Given the description of an element on the screen output the (x, y) to click on. 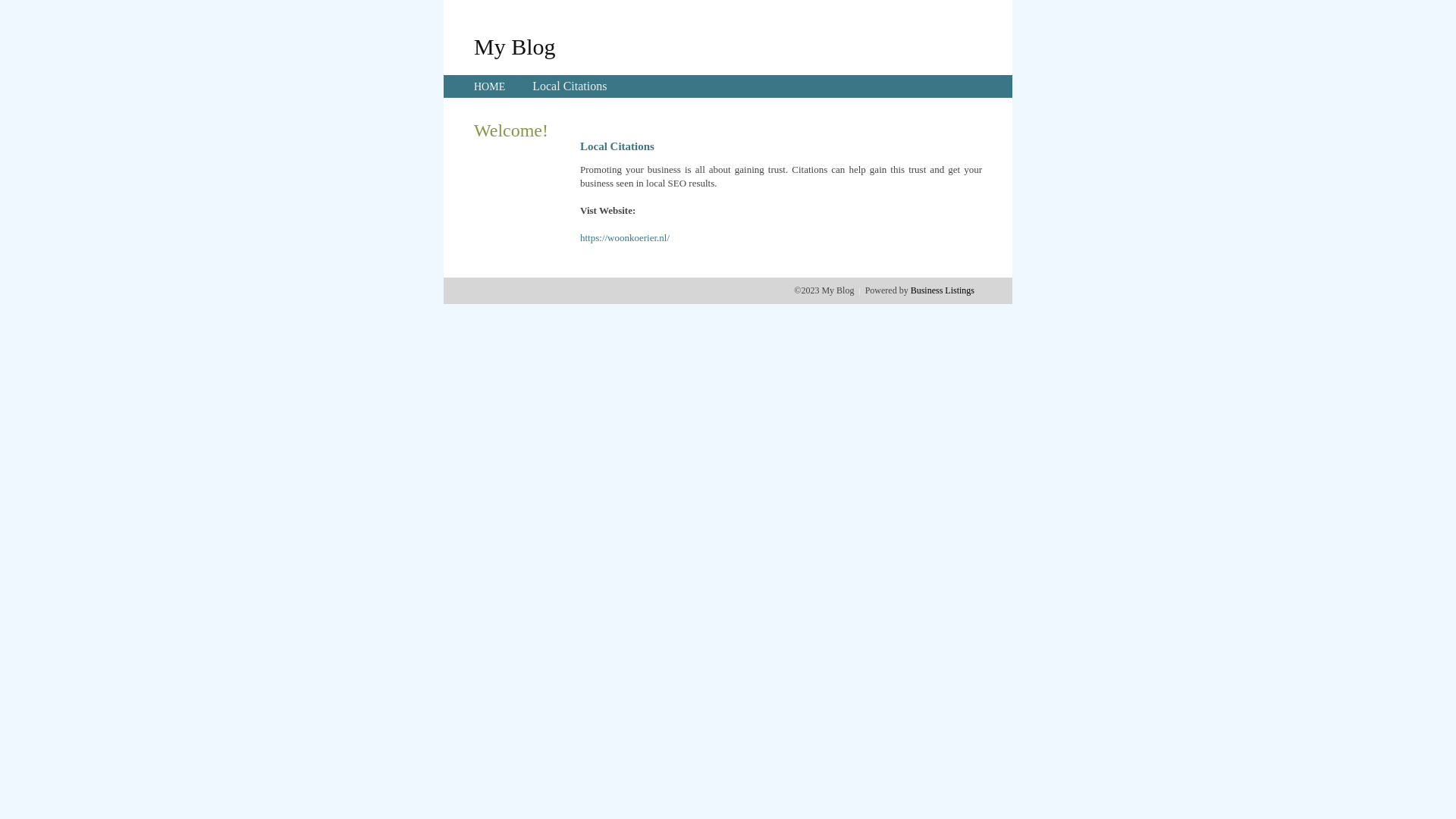
Local Citations Element type: text (569, 85)
Business Listings Element type: text (942, 290)
HOME Element type: text (489, 86)
My Blog Element type: text (514, 46)
https://woonkoerier.nl/ Element type: text (624, 237)
